Given the description of an element on the screen output the (x, y) to click on. 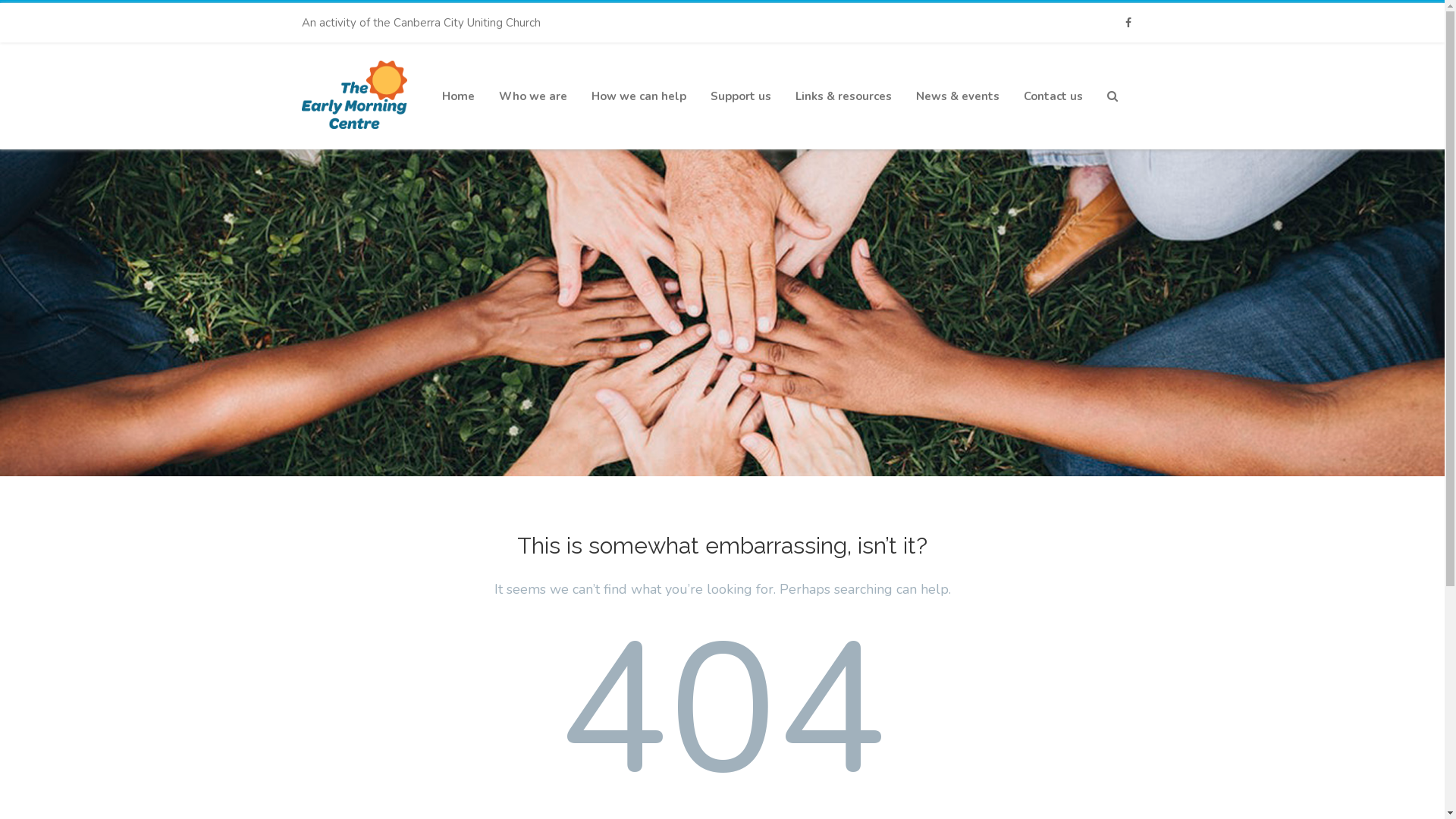
Support us Element type: text (740, 95)
Who we are Element type: text (531, 95)
The Early Morning Centre Element type: hover (354, 142)
Home Element type: text (458, 95)
Contact us Element type: text (1052, 95)
Links & resources Element type: text (843, 95)
Facebook Element type: hover (1128, 22)
An activity of the Canberra City Uniting Church Element type: text (426, 22)
How we can help Element type: text (637, 95)
News & events Element type: text (956, 95)
